Given the description of an element on the screen output the (x, y) to click on. 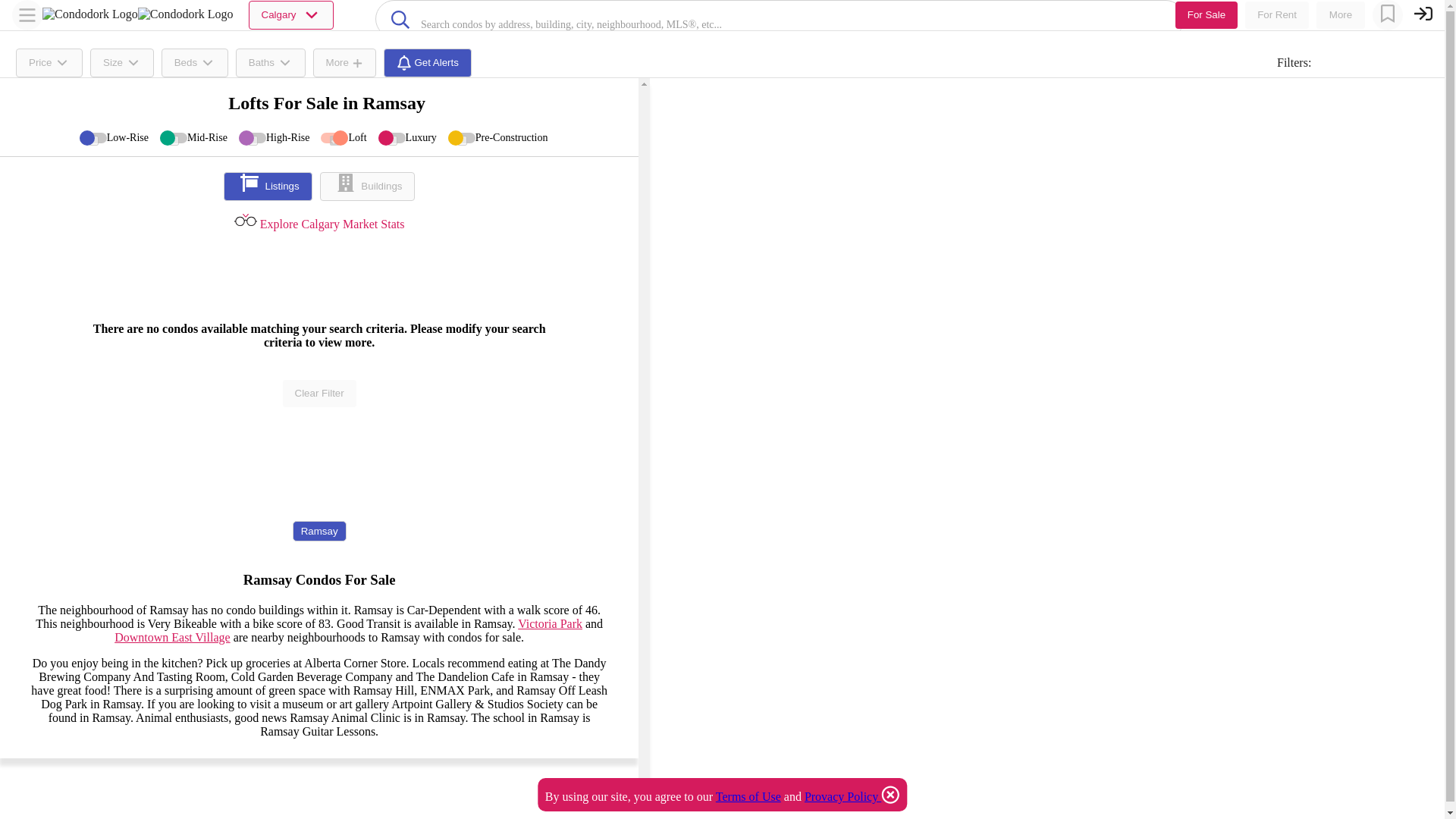
Calgary (291, 14)
on (252, 140)
For Rent (1276, 14)
Size (122, 62)
For Sale (1205, 14)
Downtown East Village (172, 636)
Provacy Policy (842, 796)
More (1340, 14)
Get Alerts (427, 62)
on (392, 140)
Terms of Use (748, 796)
Buildings (367, 185)
Price (49, 62)
Victoria Park (550, 623)
Condodork Logo (90, 14)
